Given the description of an element on the screen output the (x, y) to click on. 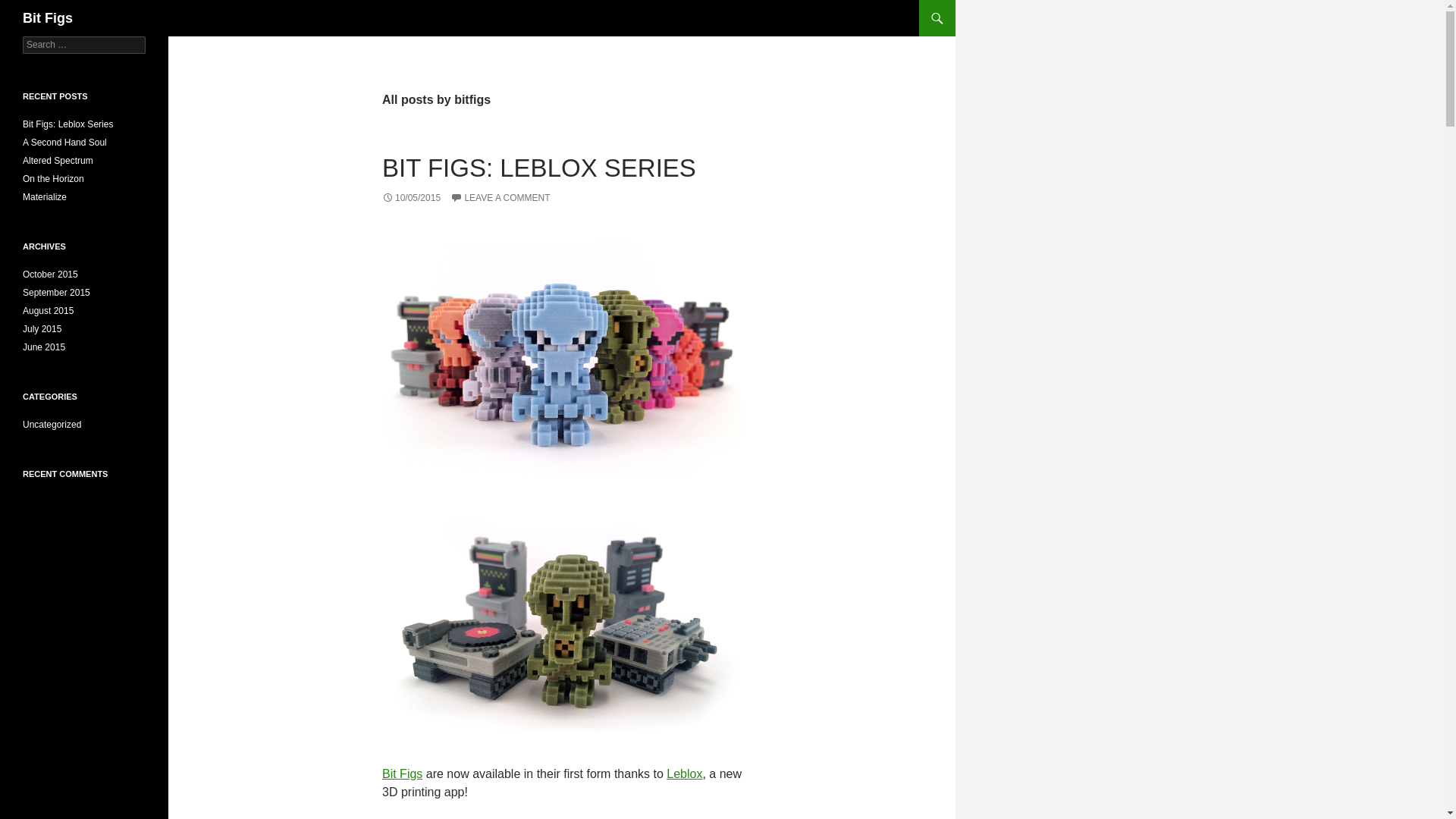
Leblox (683, 773)
Bit Figs (401, 773)
LEAVE A COMMENT (499, 197)
Bit Figs (47, 18)
BIT FIGS: LEBLOX SERIES (538, 167)
